Given the description of an element on the screen output the (x, y) to click on. 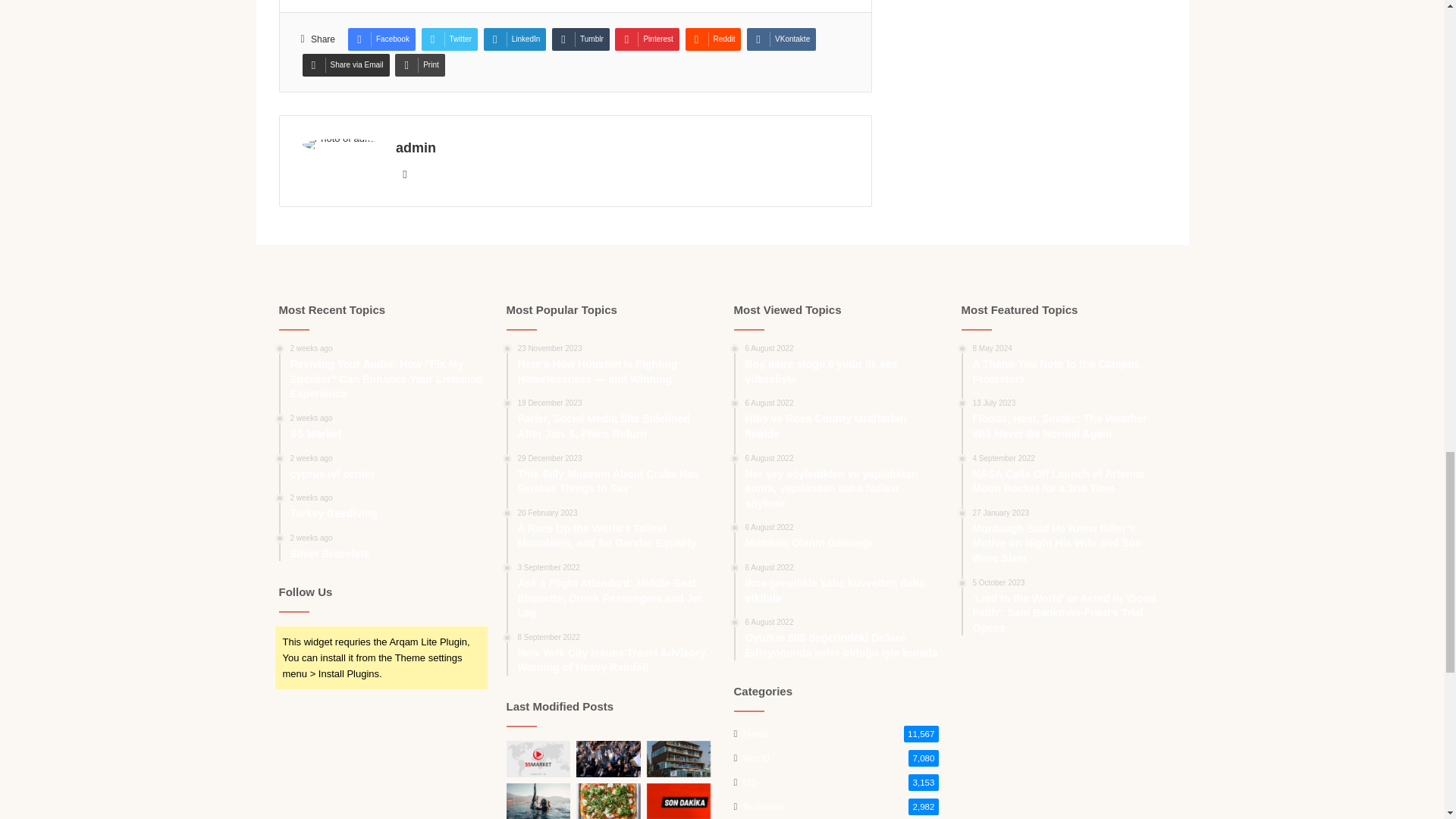
Facebook (380, 38)
Twitter (449, 38)
Tumblr (580, 38)
Facebook (380, 38)
LinkedIn (515, 38)
Tumblr (580, 38)
Pinterest (646, 38)
Reddit (713, 38)
LinkedIn (515, 38)
Share via Email (344, 65)
Twitter (449, 38)
Website (404, 174)
Print (419, 65)
Pinterest (646, 38)
admin (415, 147)
